Given the description of an element on the screen output the (x, y) to click on. 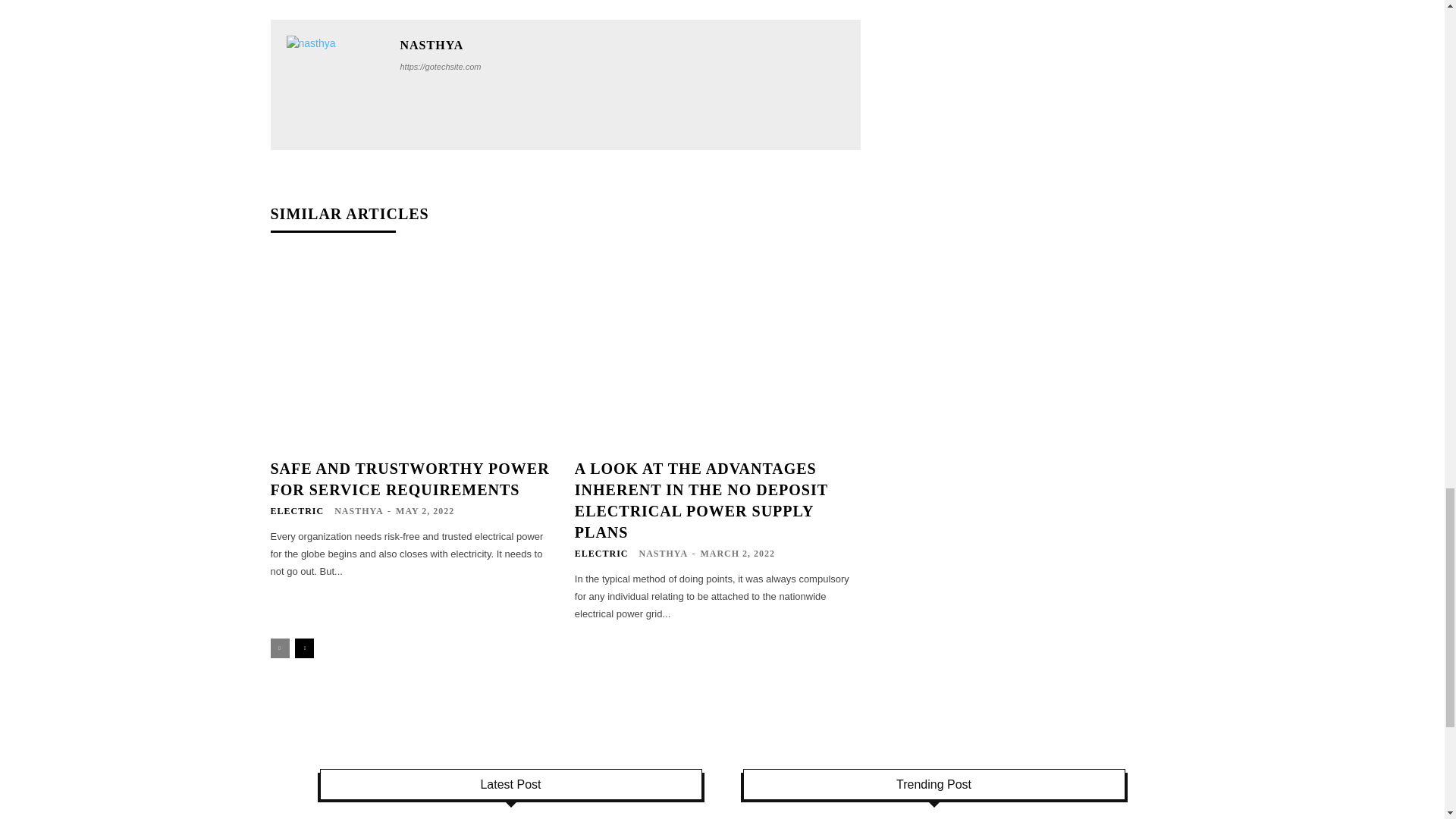
Safe and Trustworthy Power for Service Requirements (412, 351)
Safe and Trustworthy Power for Service Requirements (408, 478)
nasthya (335, 85)
